Given the description of an element on the screen output the (x, y) to click on. 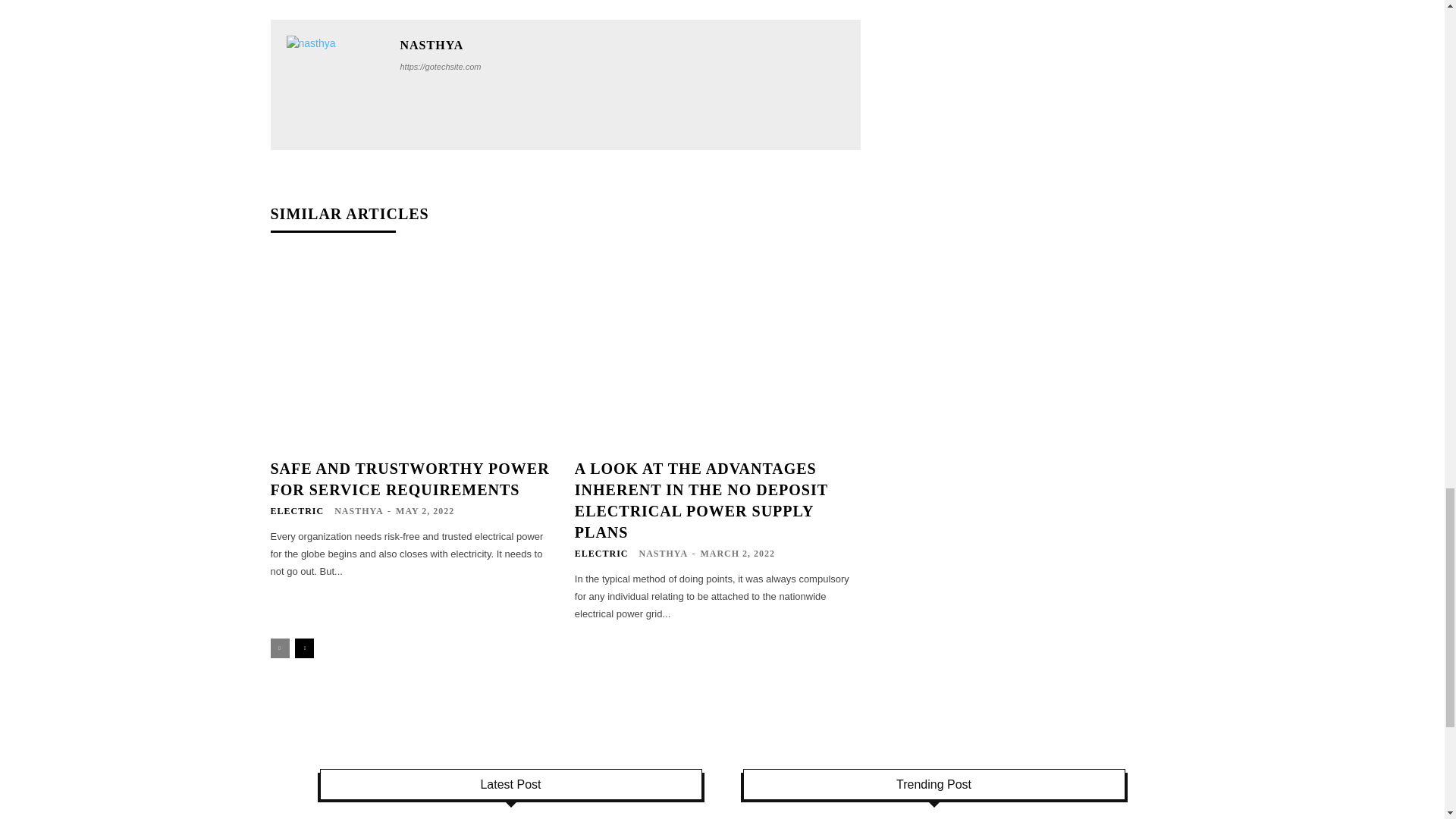
Safe and Trustworthy Power for Service Requirements (412, 351)
Safe and Trustworthy Power for Service Requirements (408, 478)
nasthya (335, 85)
